Given the description of an element on the screen output the (x, y) to click on. 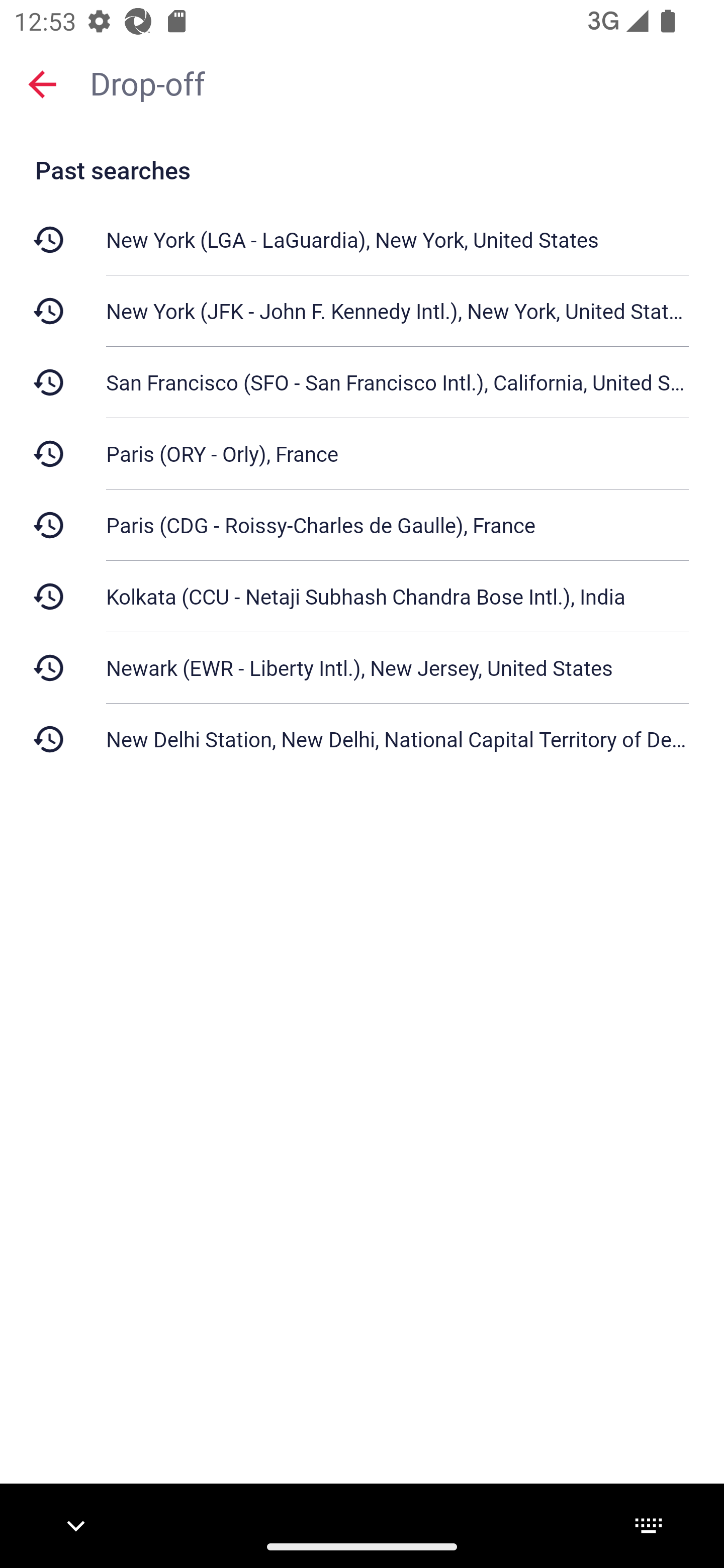
Close search screen (42, 84)
Drop-off,  (397, 82)
